Given the description of an element on the screen output the (x, y) to click on. 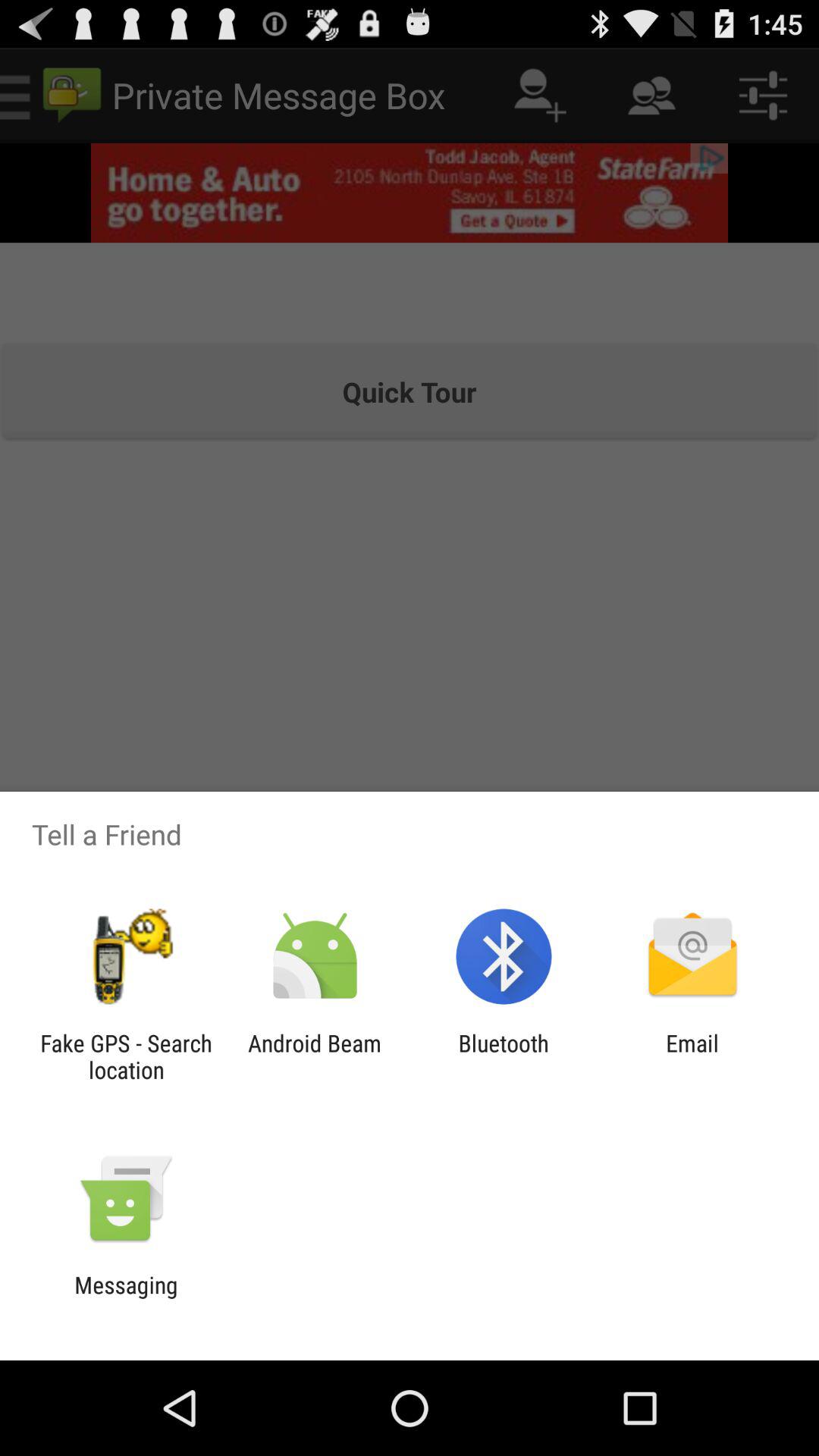
swipe to fake gps search icon (125, 1056)
